Given the description of an element on the screen output the (x, y) to click on. 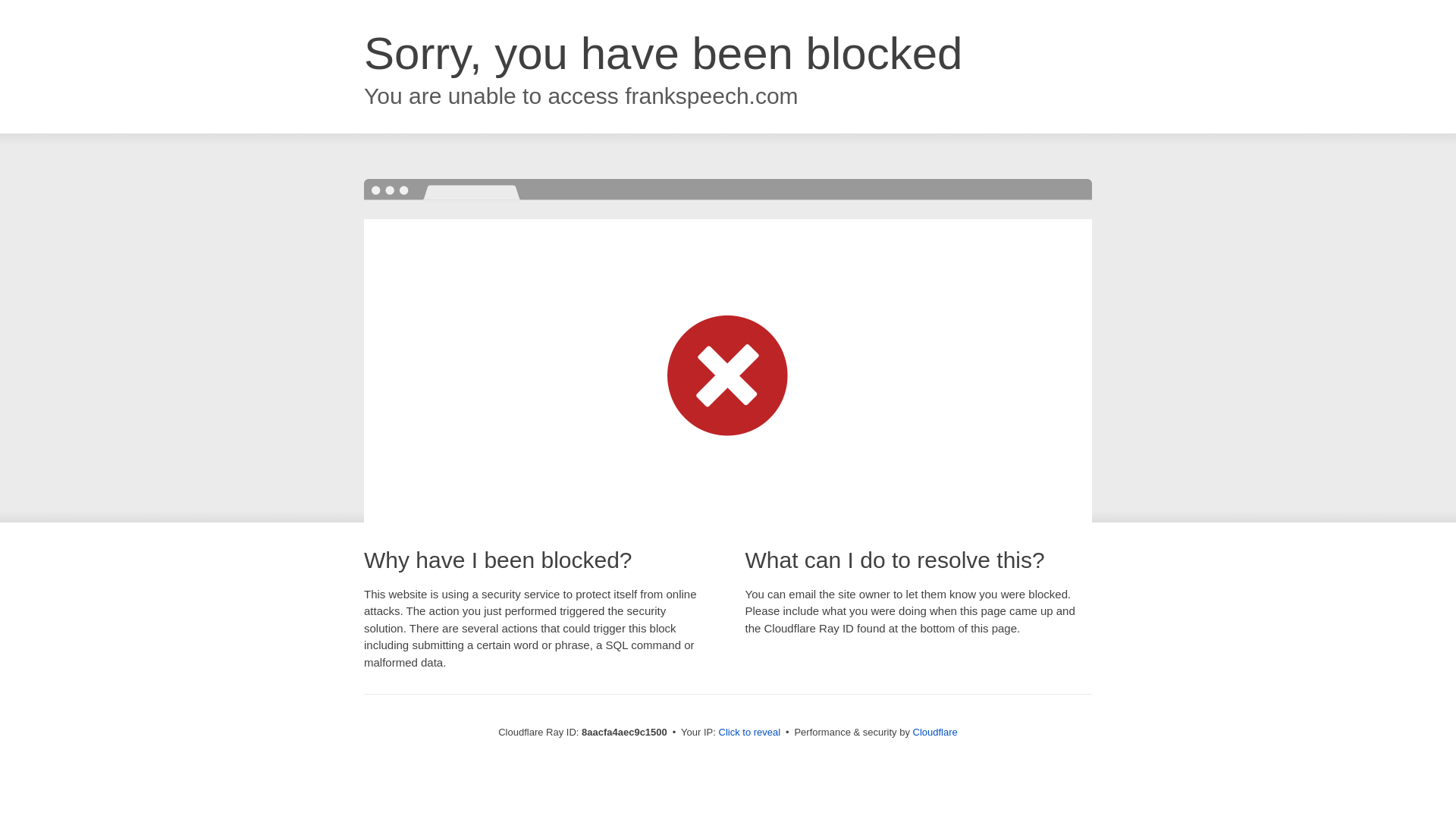
Click to reveal (749, 732)
Cloudflare (935, 731)
